Given the description of an element on the screen output the (x, y) to click on. 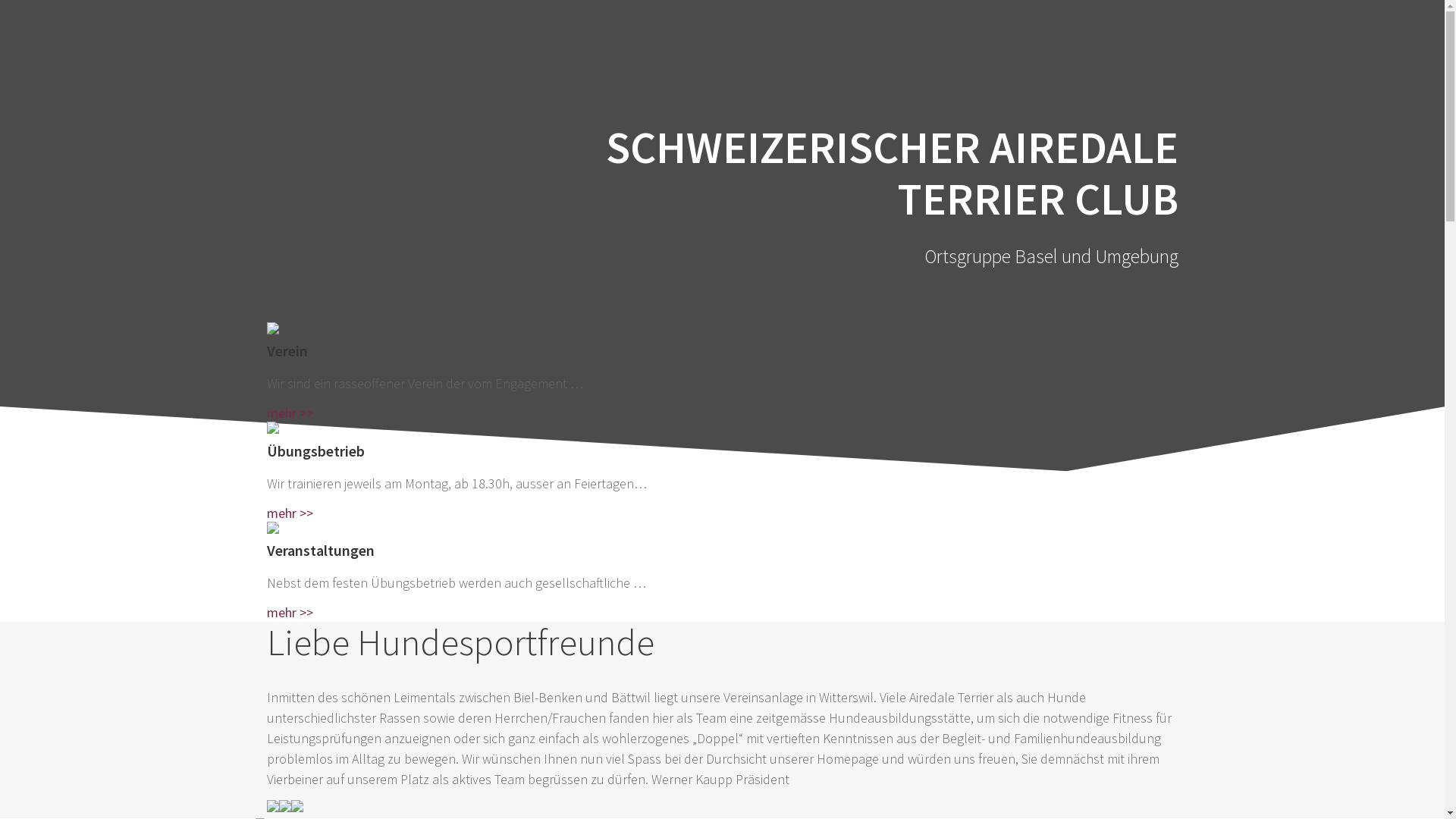
VORSTAND Element type: text (1316, 34)
FEATURES Element type: text (1317, 103)
VEREIN Element type: text (699, 34)
TEAM Element type: text (1120, 103)
KONTAKT Element type: text (1028, 103)
GALLERY Element type: text (1209, 103)
mehr >> Element type: text (289, 412)
VERANSTALTUNGEN Element type: text (1164, 34)
mehr >> Element type: text (289, 512)
START Element type: text (613, 34)
VEREINSANLAGE Element type: text (825, 34)
mehr >> Element type: text (289, 612)
